Given the description of an element on the screen output the (x, y) to click on. 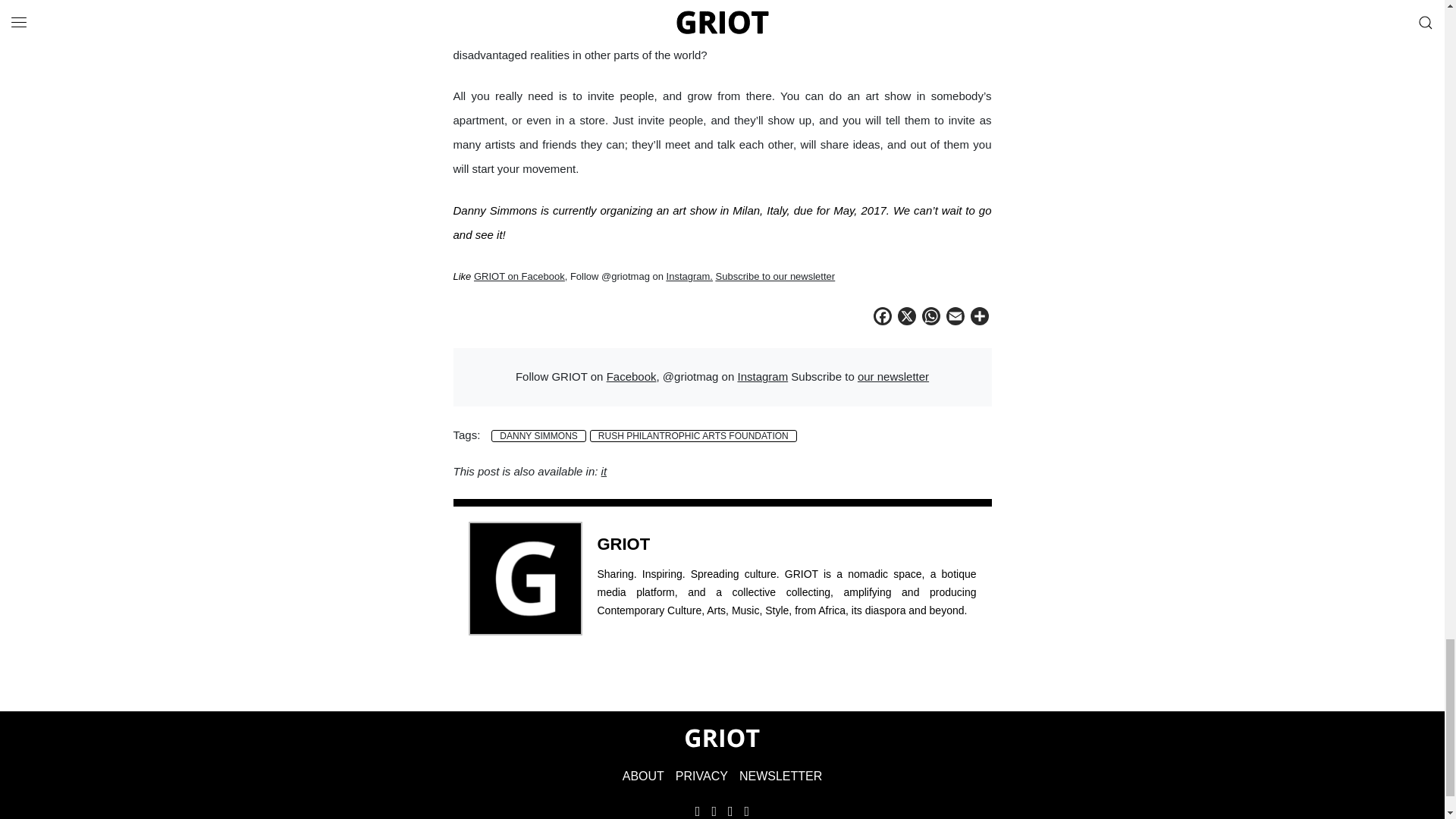
Instagram. (689, 276)
Subscribe to our newsletter (775, 276)
Email (955, 318)
GRIOT on Facebook (519, 276)
Facebook (882, 318)
X (906, 318)
Facebook (631, 376)
WhatsApp (930, 318)
Instagram (761, 376)
